Given the description of an element on the screen output the (x, y) to click on. 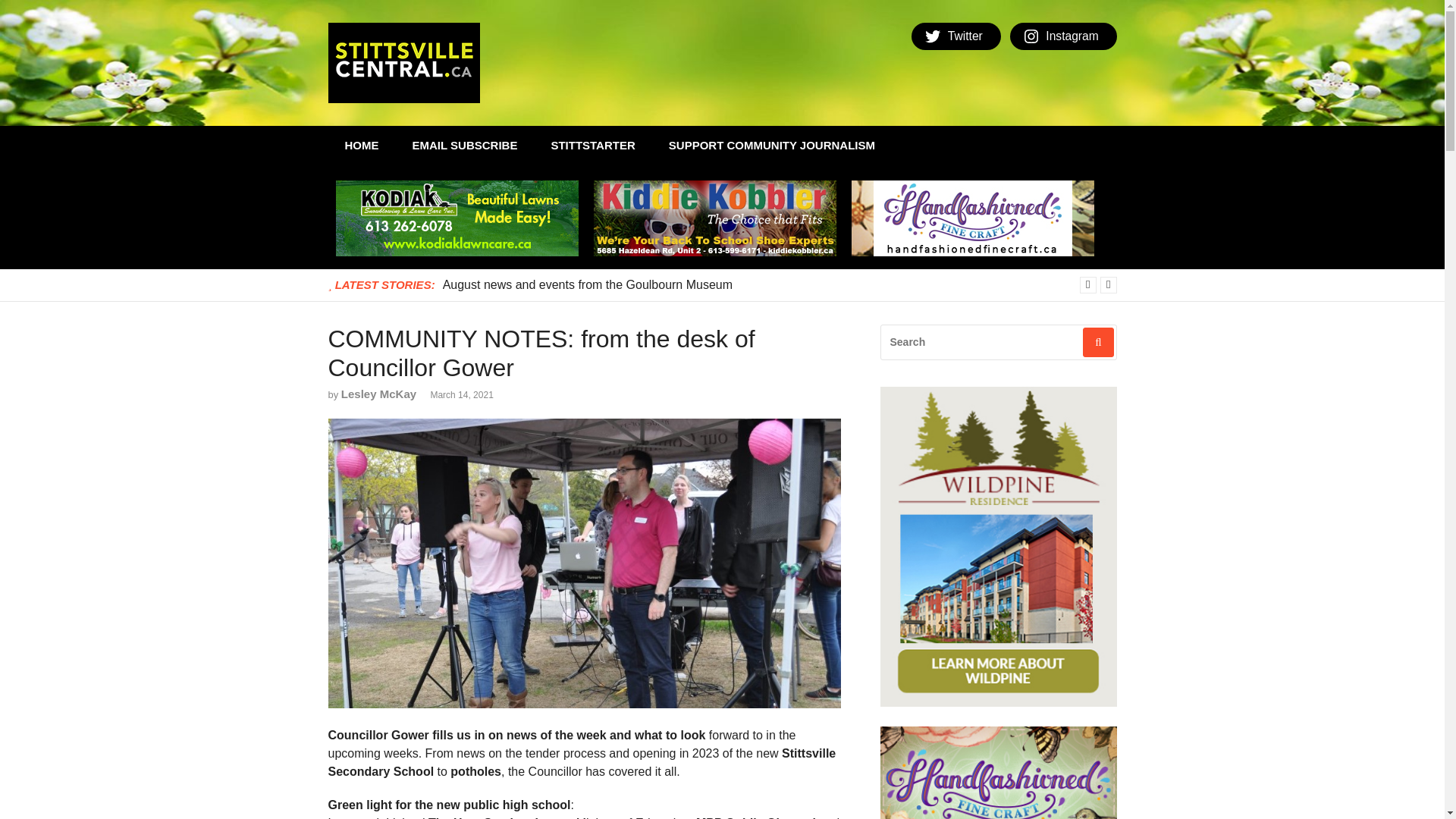
August news and events from the Goulbourn Museum (587, 283)
August news and events from the Goulbourn Museum (587, 283)
STITTSTARTER (592, 146)
EMAIL SUBSCRIBE (465, 146)
SUPPORT COMMUNITY JOURNALISM (771, 146)
Instagram (1063, 35)
Lesley McKay (378, 393)
Twitter (956, 35)
HOME (360, 146)
